Given the description of an element on the screen output the (x, y) to click on. 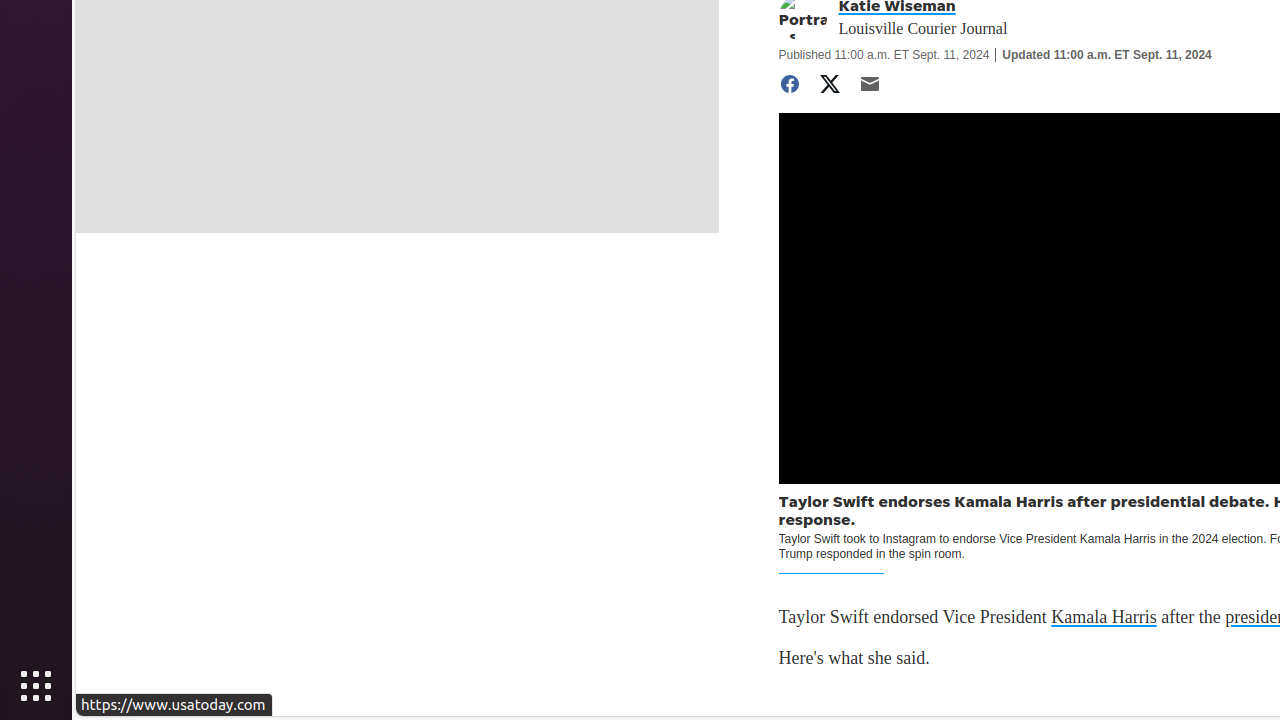
Share by email Element type: link (869, 84)
Show Applications Element type: toggle-button (36, 686)
Share to Facebook Element type: link (789, 84)
Share to Twitter Element type: link (829, 84)
Kamala Harris Element type: link (1104, 617)
